Given the description of an element on the screen output the (x, y) to click on. 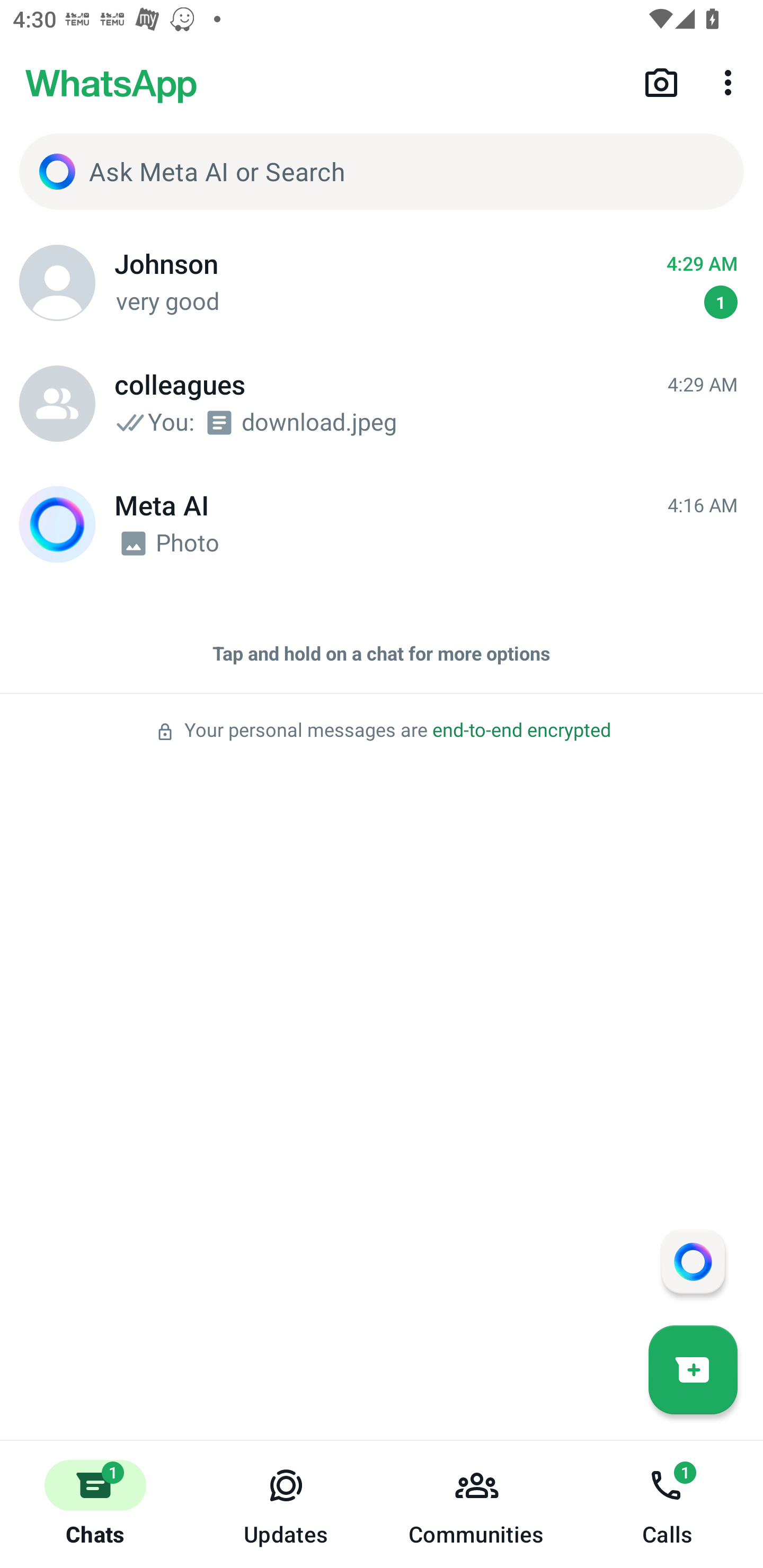
Camera (661, 81)
More options (731, 81)
Johnson (57, 282)
colleagues (57, 403)
Meta AI Meta AI 4:16 AM 4:16 AM Photo (381, 524)
Meta AI (57, 524)
end-to-end encrypted (521, 730)
Message your assistant (692, 1261)
New chat (692, 1369)
Updates (285, 1504)
Communities (476, 1504)
Calls, 1 new notification Calls (667, 1504)
